Given the description of an element on the screen output the (x, y) to click on. 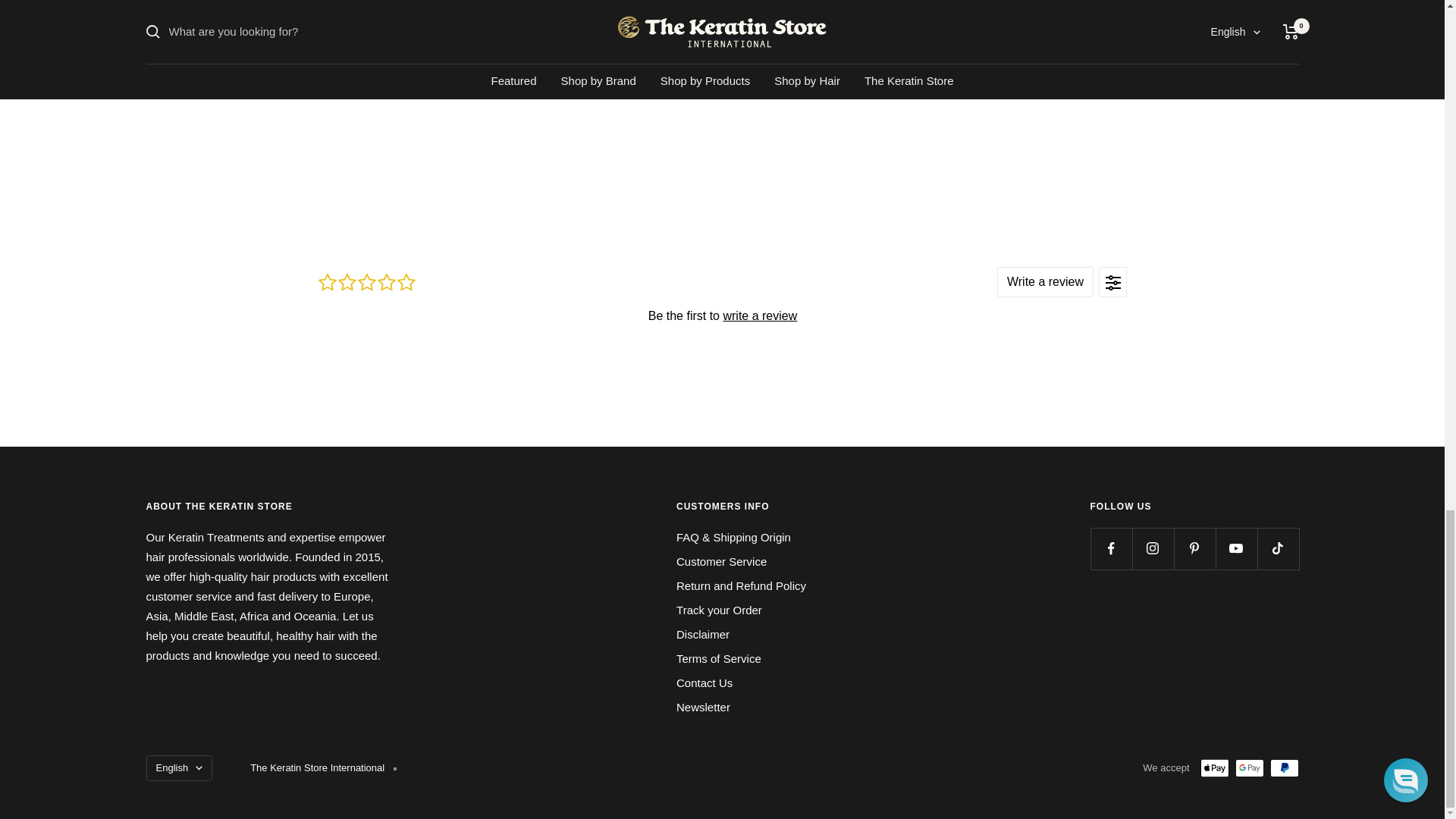
Product reviews widget (722, 314)
